Given the description of an element on the screen output the (x, y) to click on. 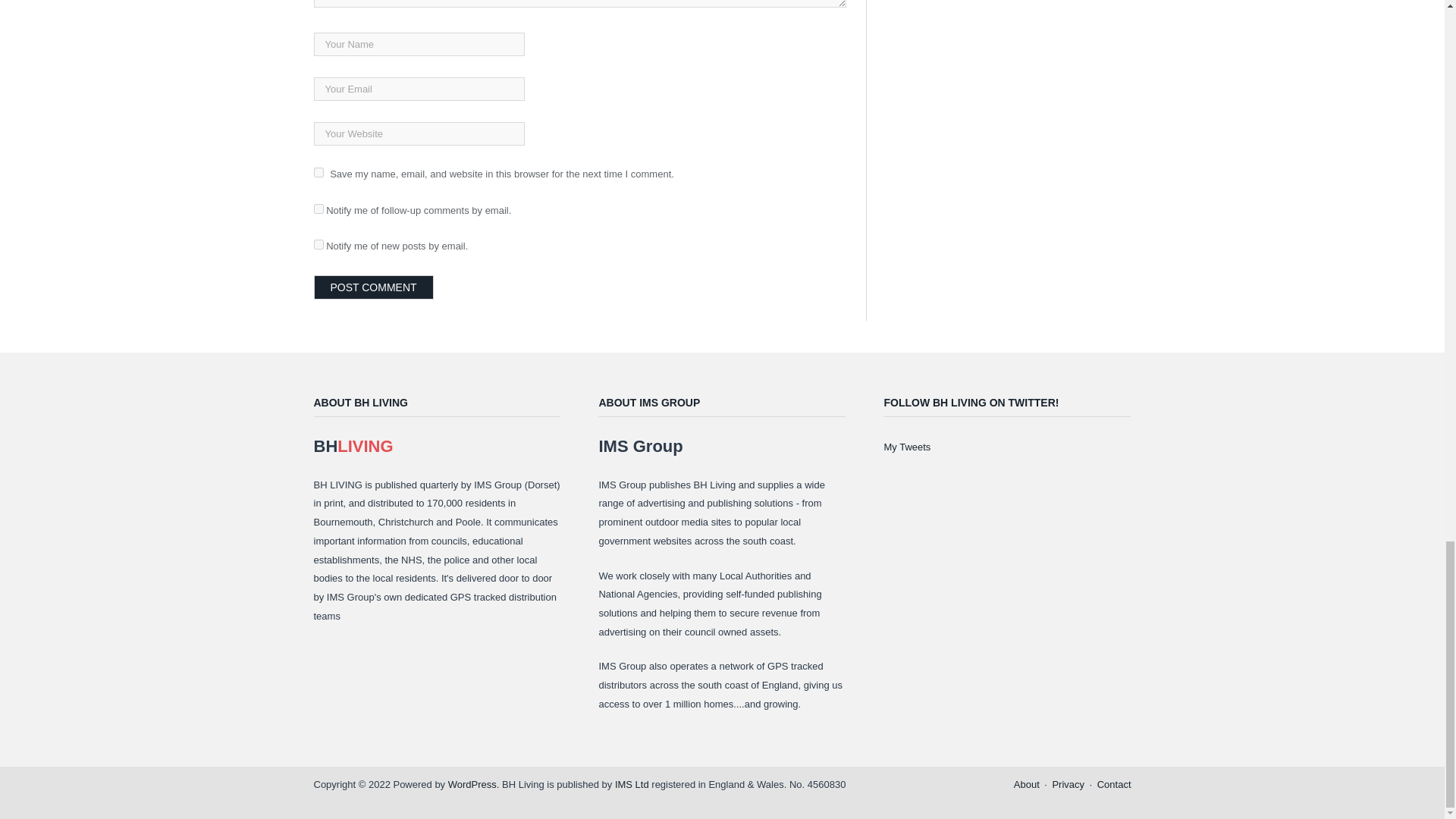
Post Comment (373, 287)
subscribe (318, 244)
yes (318, 172)
subscribe (318, 208)
